Given the description of an element on the screen output the (x, y) to click on. 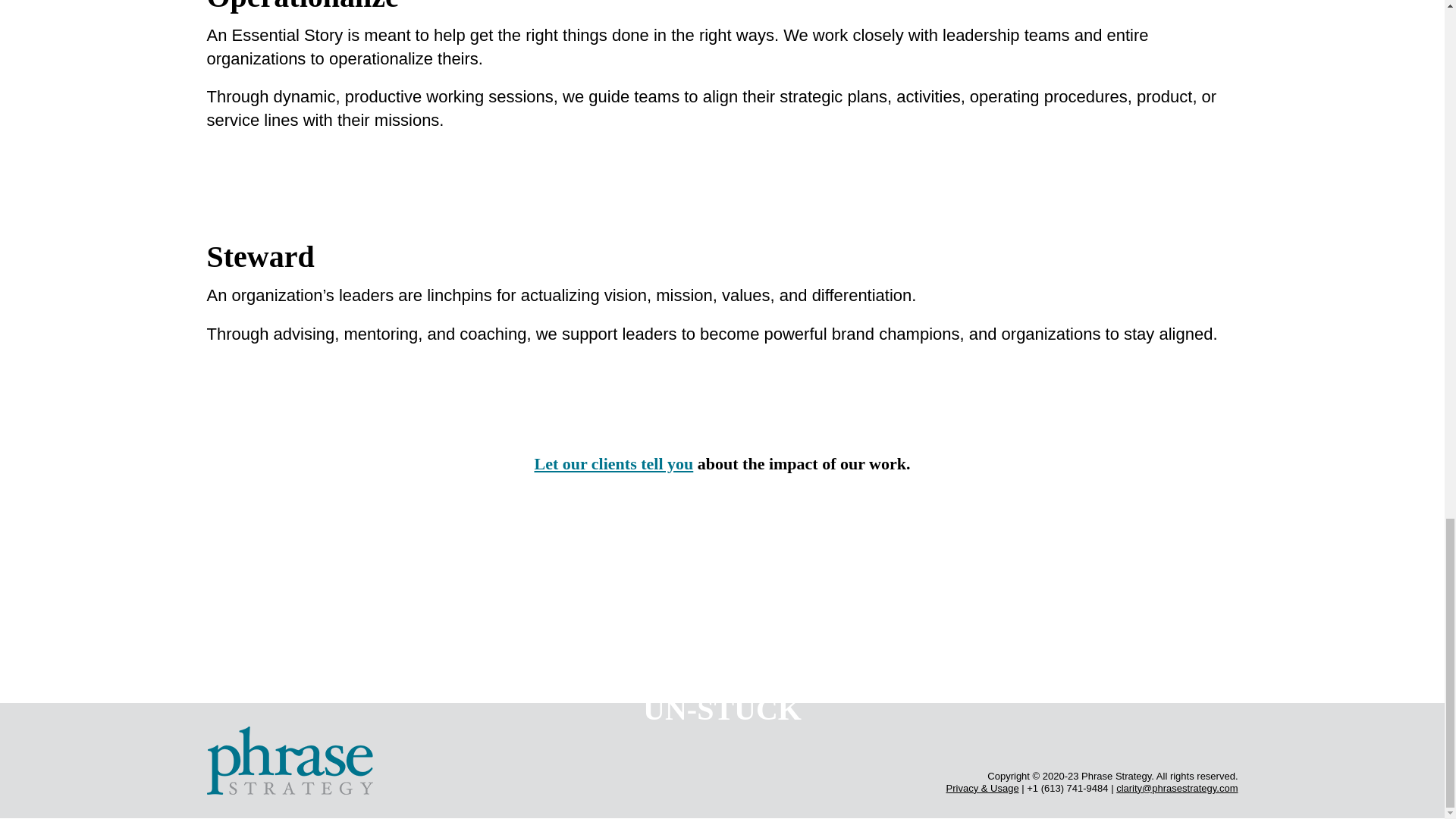
Let our clients tell you (613, 463)
